Given the description of an element on the screen output the (x, y) to click on. 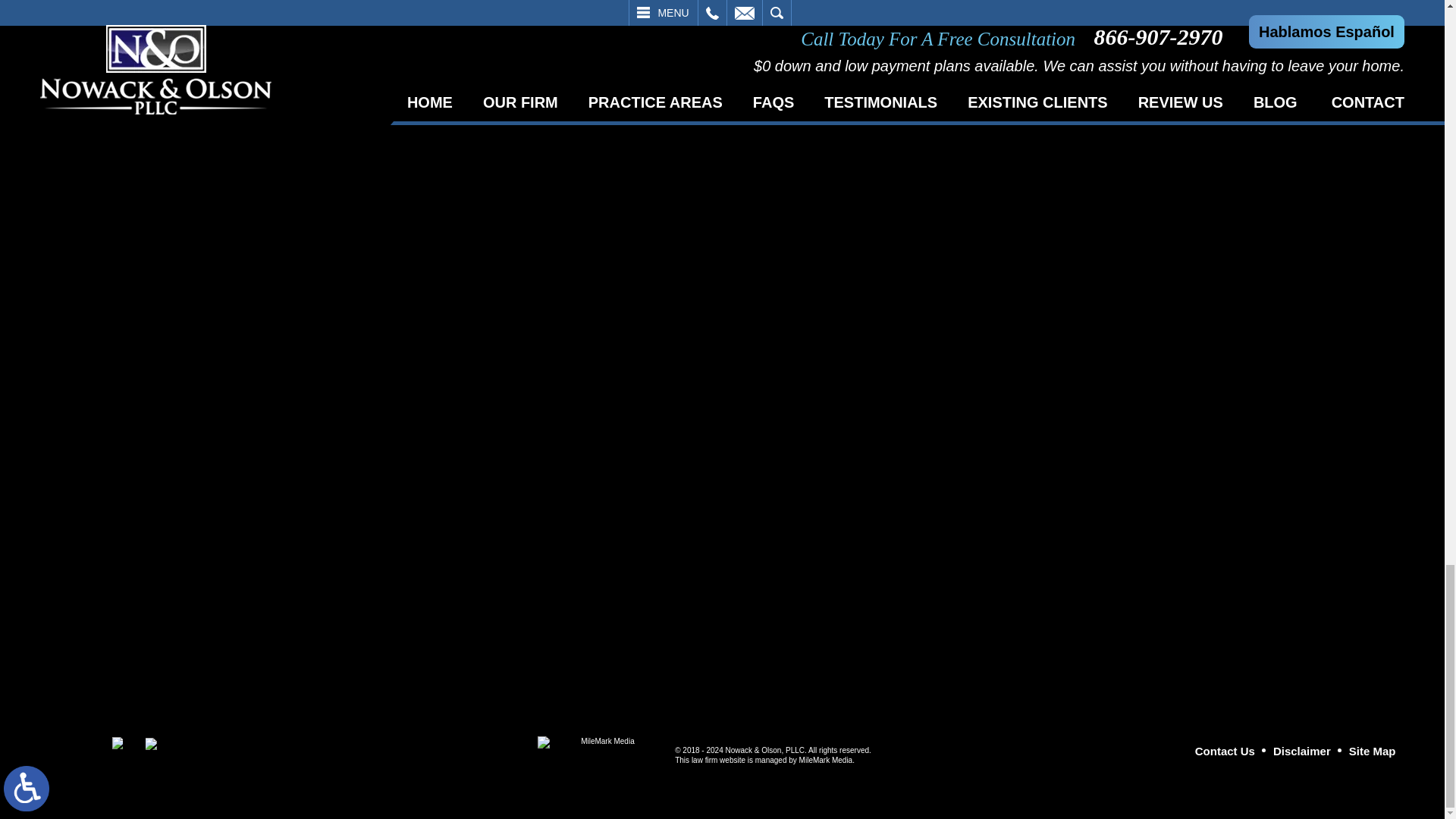
Twitter (149, 743)
MileMark Media (601, 749)
Facebook (117, 743)
